Given the description of an element on the screen output the (x, y) to click on. 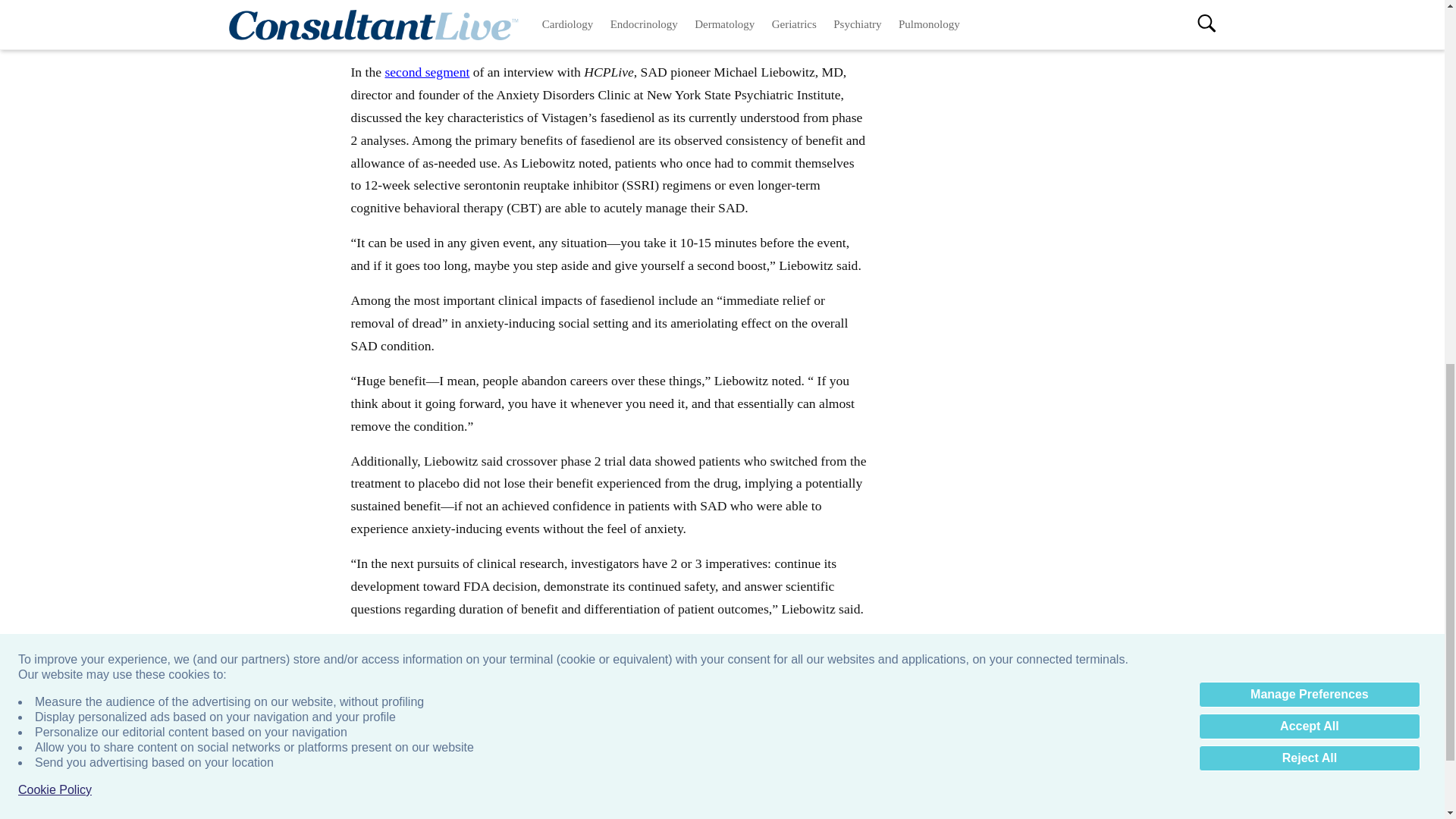
Accept All (1309, 5)
Cookie Policy (54, 61)
Reject All (1309, 29)
